Given the description of an element on the screen output the (x, y) to click on. 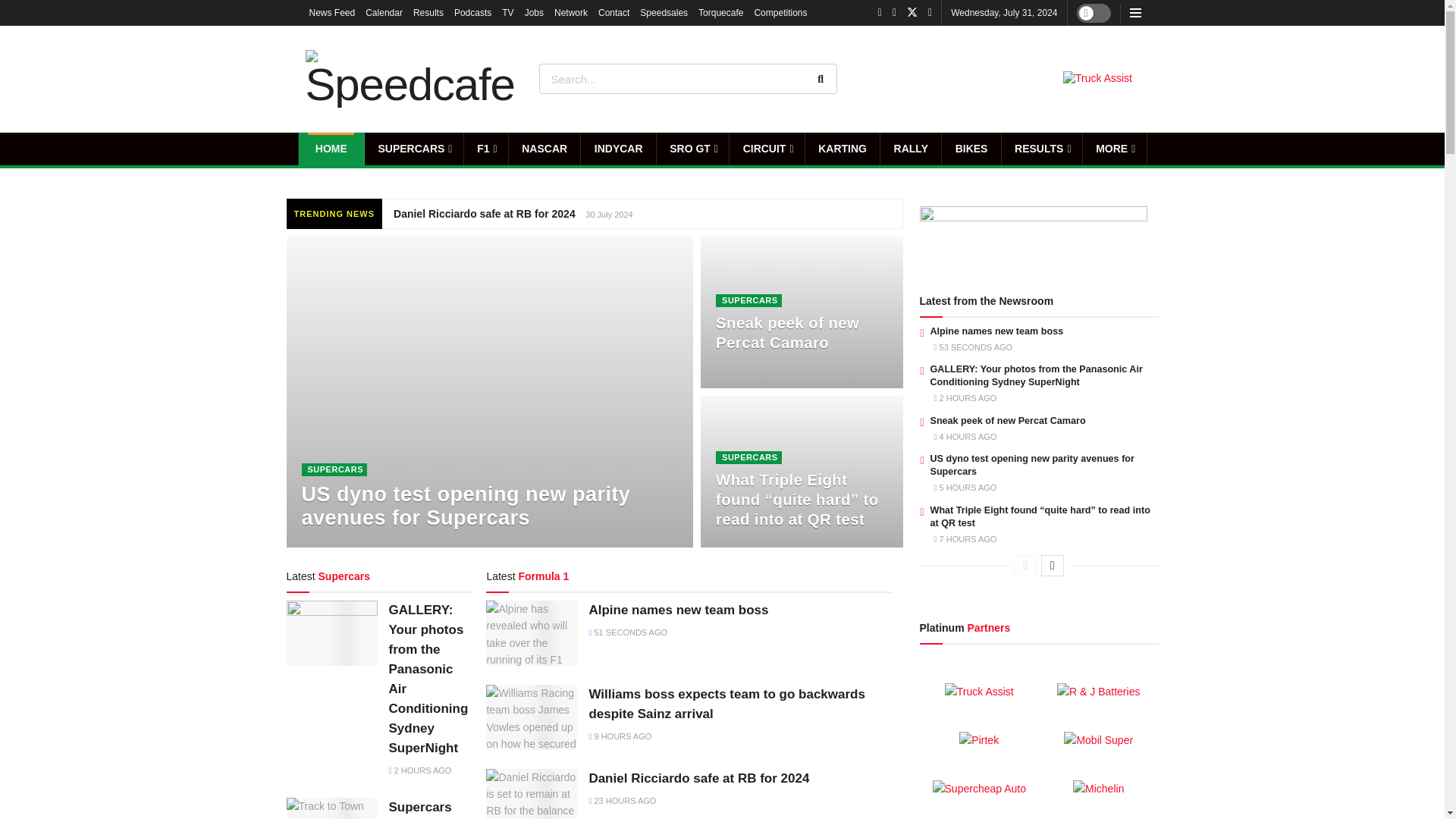
Speedsales (663, 12)
Torquecafe (720, 12)
Truck Assist (1097, 78)
Network (571, 12)
Contact (613, 12)
Competitions (780, 12)
Calendar (384, 12)
SUPERCARS (414, 148)
News Feed (331, 12)
Results (428, 12)
HOME (330, 148)
Podcasts (473, 12)
F1 (486, 148)
